Given the description of an element on the screen output the (x, y) to click on. 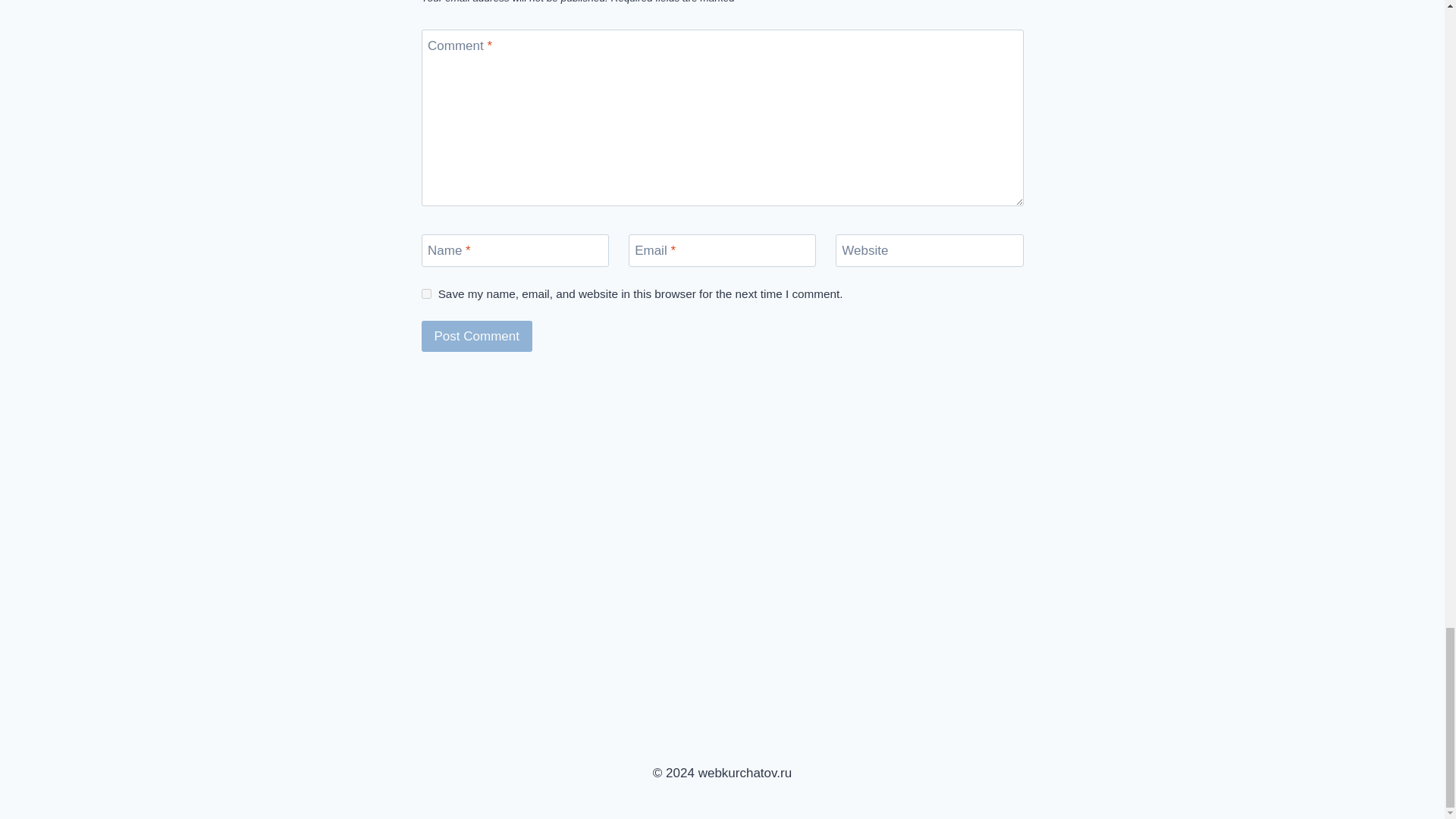
Post Comment (477, 336)
yes (426, 293)
Advertisement (722, 404)
